Given the description of an element on the screen output the (x, y) to click on. 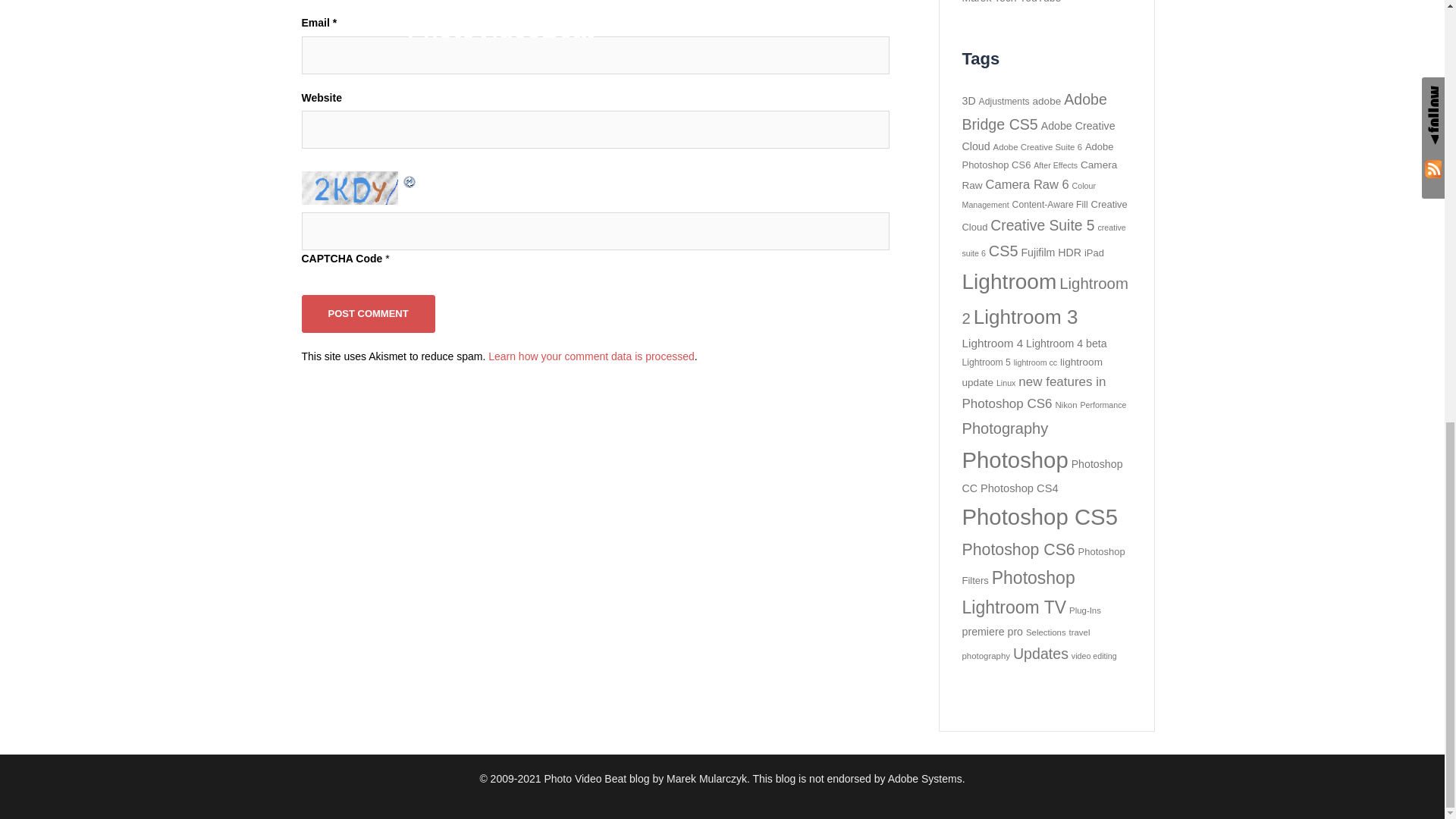
3D (967, 101)
Post Comment (368, 313)
Refresh (410, 179)
Adobe Creative Suite 6 (1036, 146)
Marek Tech YouTube (1010, 2)
Adjustments (1003, 101)
After Effects (1055, 164)
Learn how your comment data is processed (590, 356)
adobe (1046, 101)
CAPTCHA (351, 187)
